Given the description of an element on the screen output the (x, y) to click on. 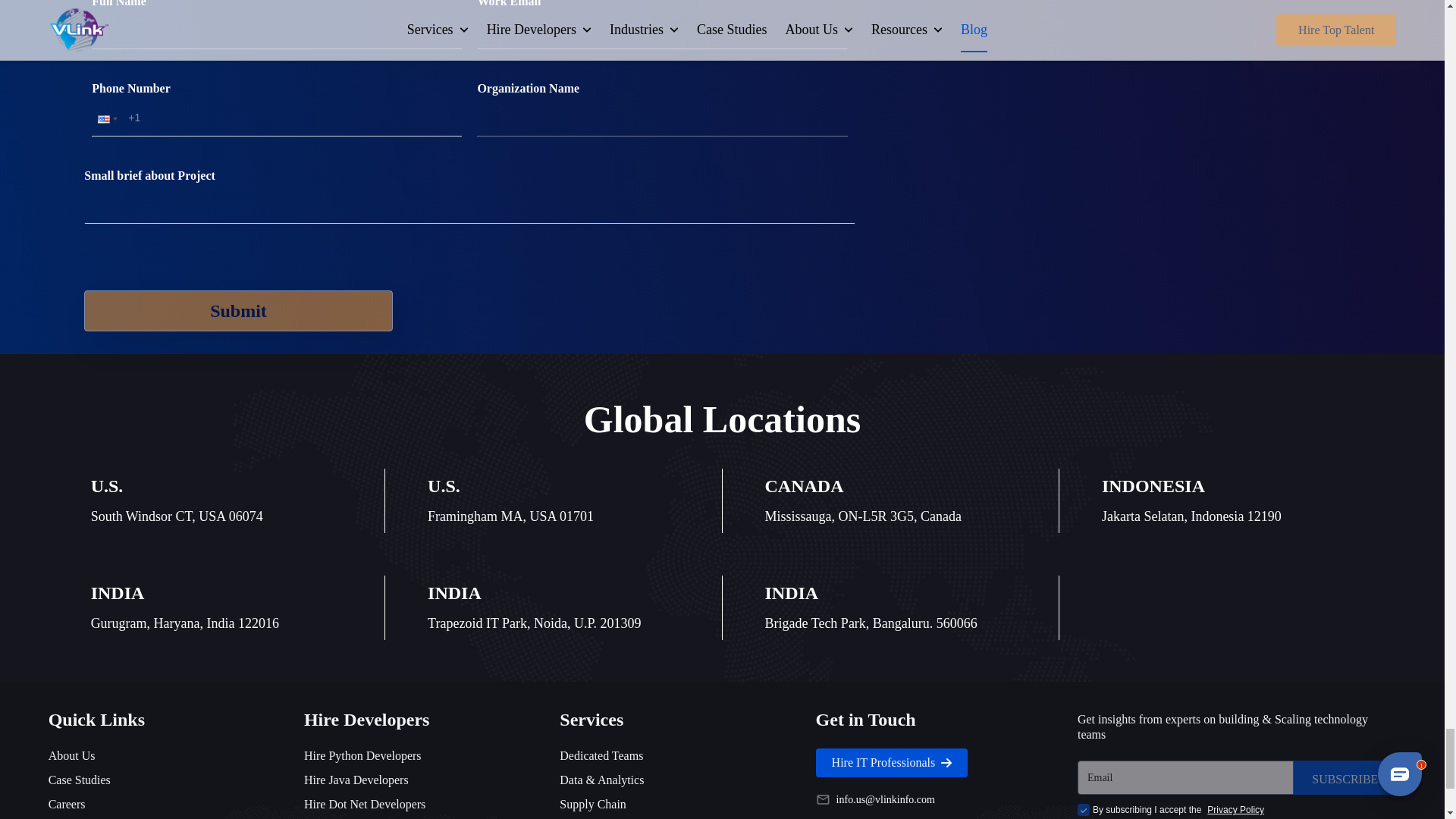
true (1083, 809)
